Given the description of an element on the screen output the (x, y) to click on. 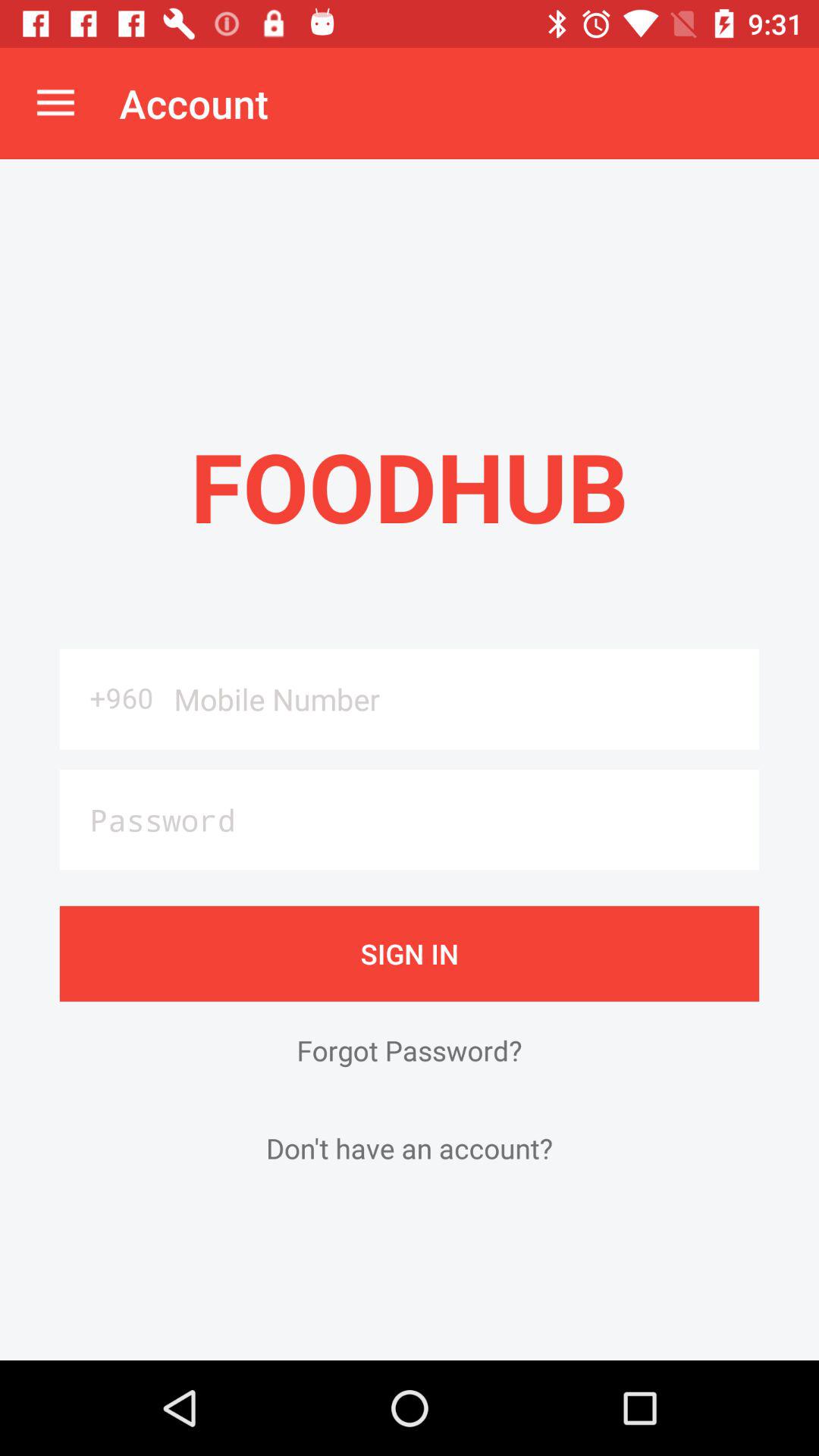
scroll to don t have (409, 1148)
